Given the description of an element on the screen output the (x, y) to click on. 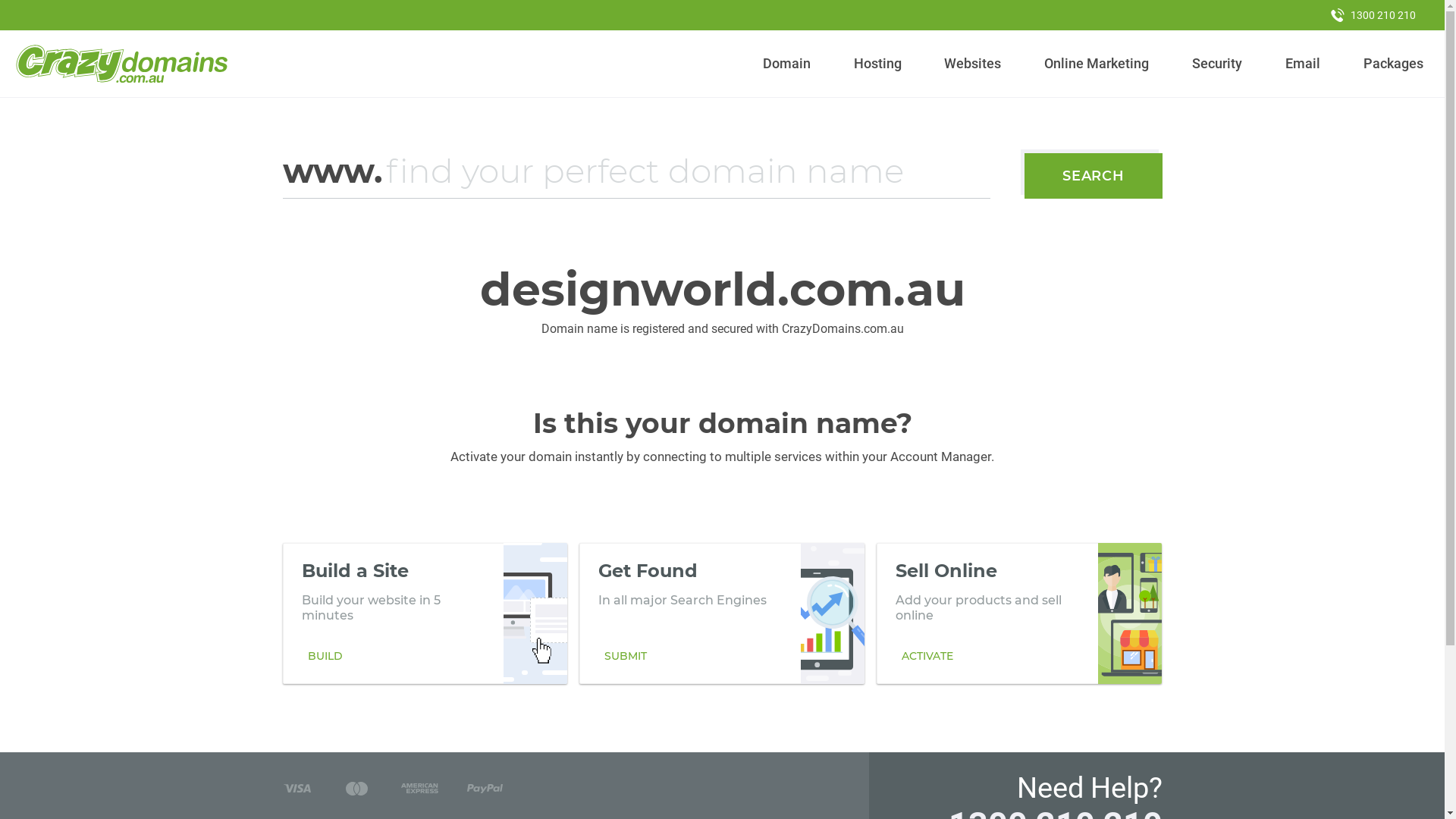
Email Element type: text (1302, 63)
Get Found
In all major Search Engines
SUBMIT Element type: text (721, 613)
Packages Element type: text (1392, 63)
Sell Online
Add your products and sell online
ACTIVATE Element type: text (1018, 613)
Domain Element type: text (786, 63)
Websites Element type: text (972, 63)
Hosting Element type: text (877, 63)
1300 210 210 Element type: text (1373, 15)
Security Element type: text (1217, 63)
Online Marketing Element type: text (1096, 63)
SEARCH Element type: text (1092, 175)
Build a Site
Build your website in 5 minutes
BUILD Element type: text (424, 613)
